Given the description of an element on the screen output the (x, y) to click on. 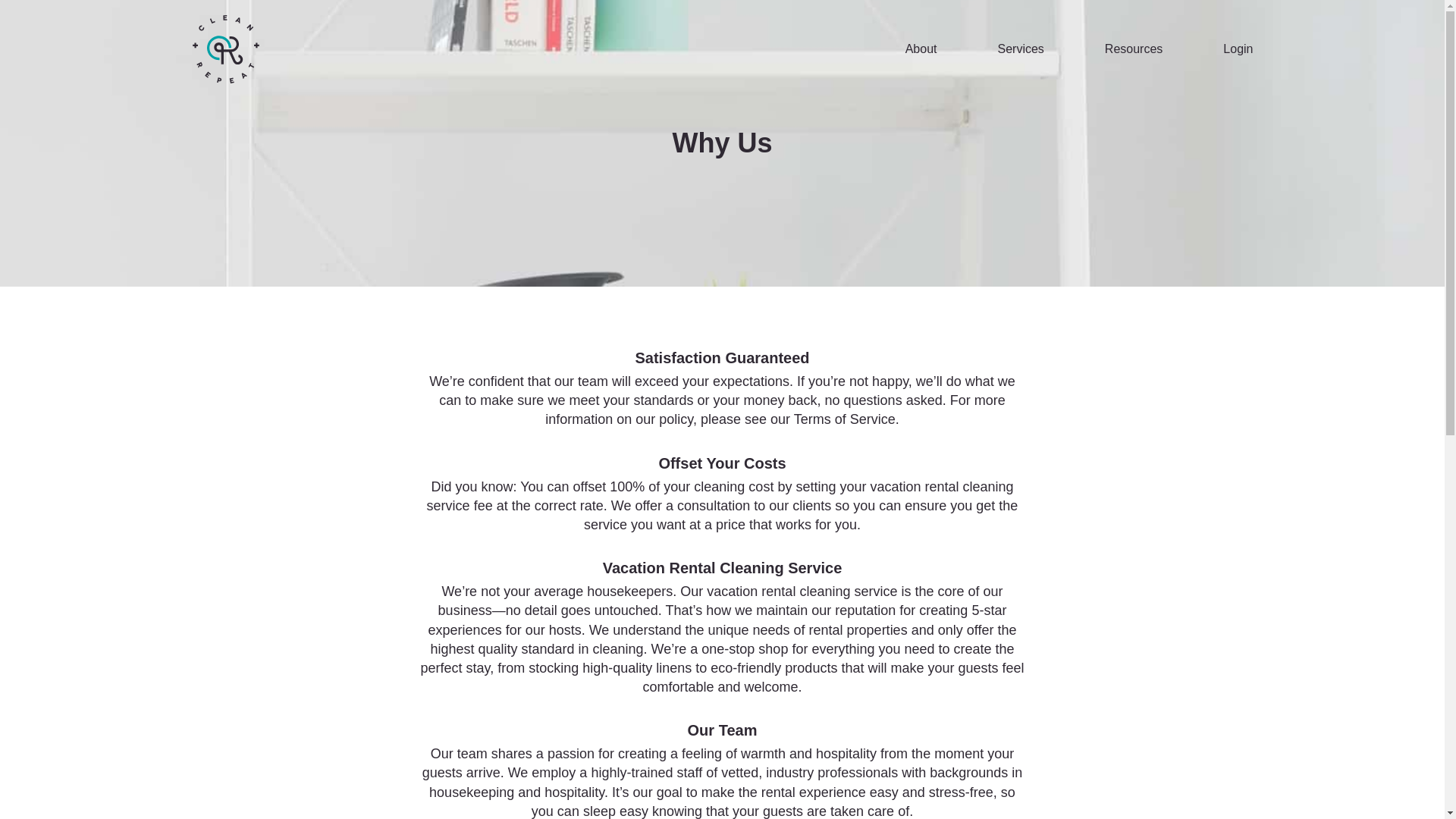
Resources (1133, 49)
Services (1020, 49)
Login (1237, 49)
About (921, 49)
